Given the description of an element on the screen output the (x, y) to click on. 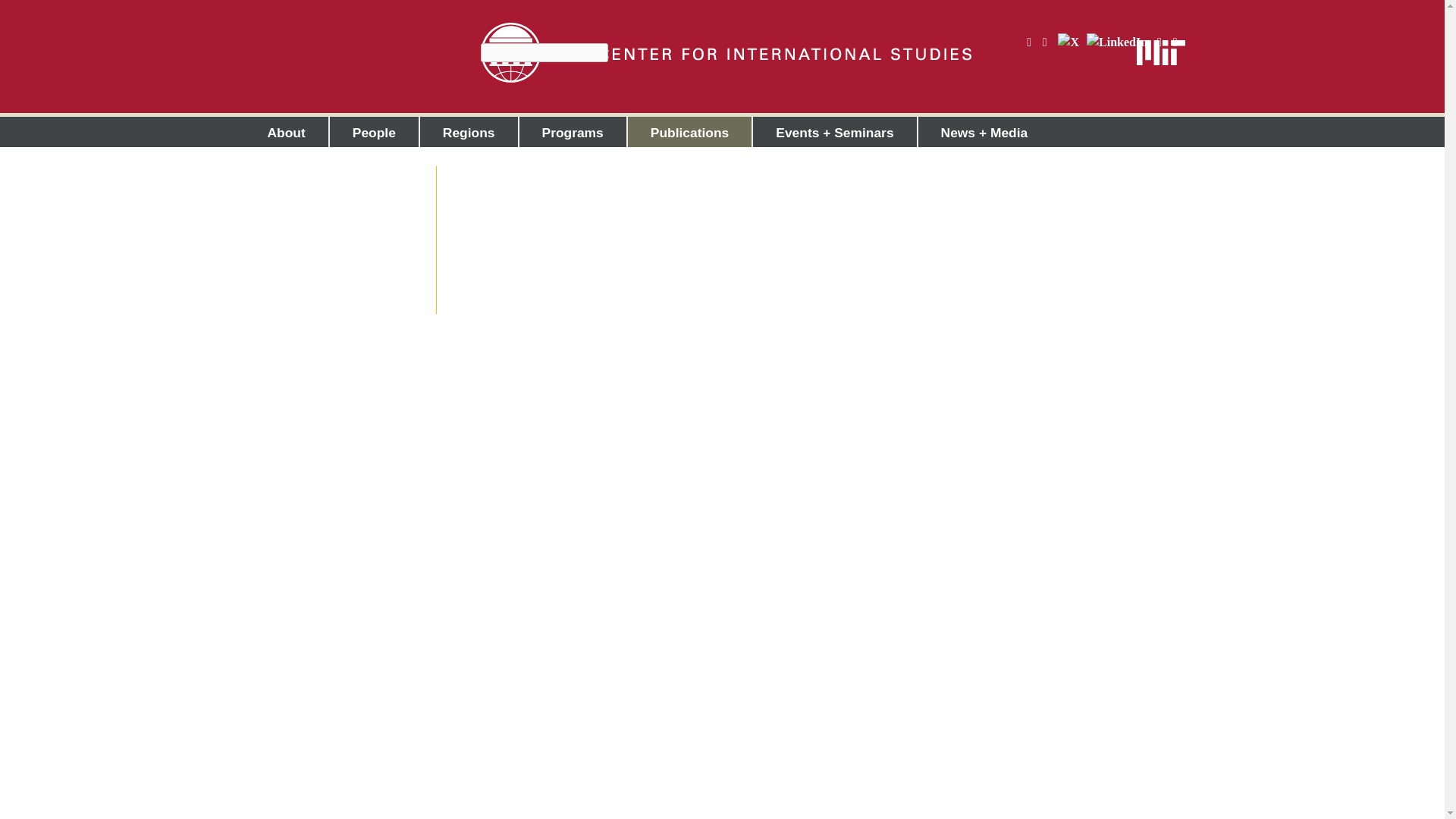
Programs (572, 132)
Publications (689, 132)
Search (488, 50)
Home page (725, 52)
About (285, 132)
Enter the terms you wish to search for. (544, 53)
Regions (469, 132)
People (374, 132)
Search (488, 50)
